Given the description of an element on the screen output the (x, y) to click on. 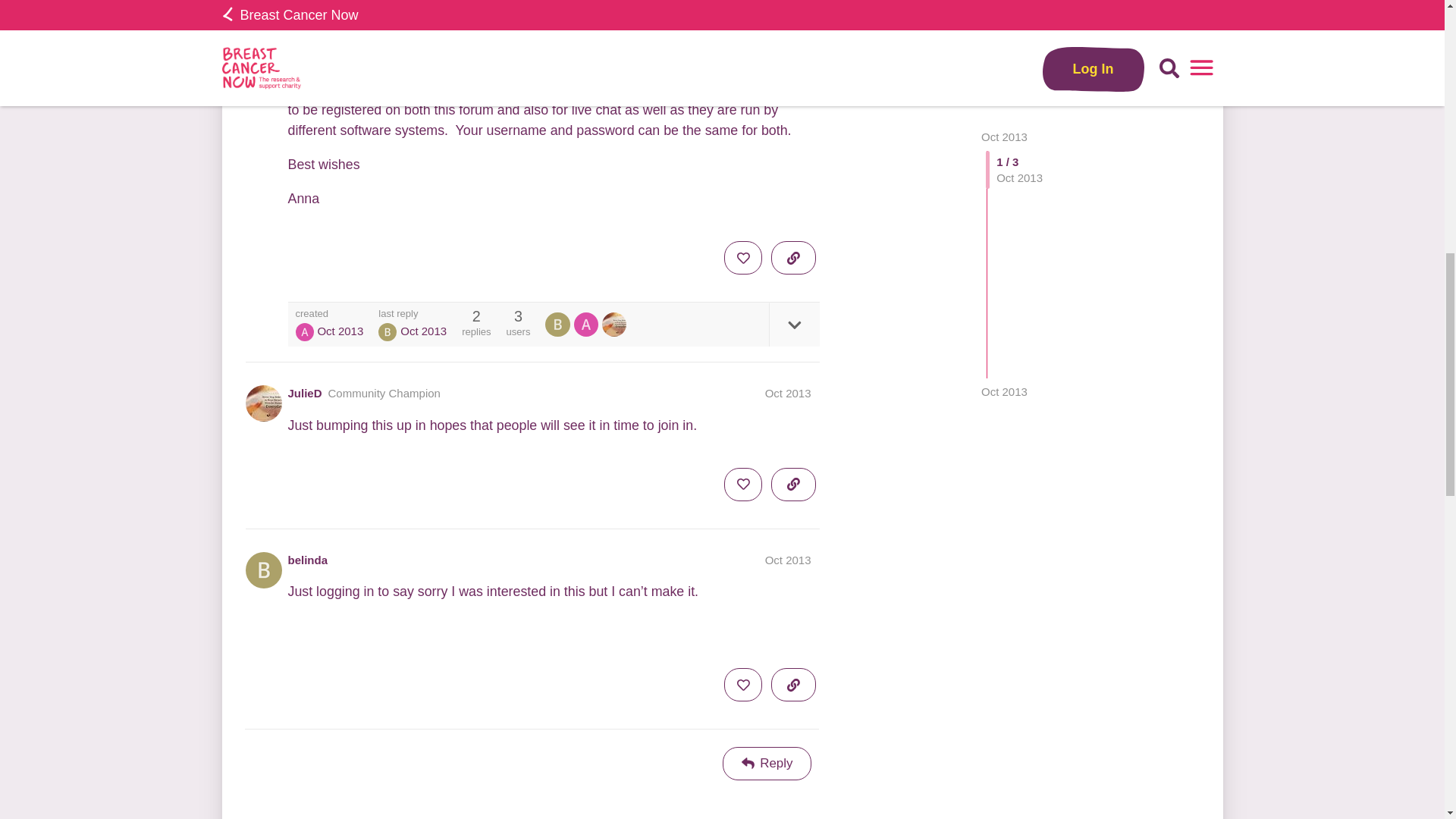
Reply (767, 763)
10 Oct 2013 19:57 (339, 330)
JulieD (304, 392)
belinda (387, 331)
like this post (742, 257)
Oct 2013 (1004, 20)
belinda (558, 324)
Oct 2013 (787, 392)
last reply (412, 313)
copy a link to this post to clipboard (793, 257)
expand topic details (793, 324)
belinda (308, 560)
17 Oct 2013 21:18 (423, 330)
Oct 2013 (787, 559)
17 Oct 2013 21:18 (1004, 20)
